Given the description of an element on the screen output the (x, y) to click on. 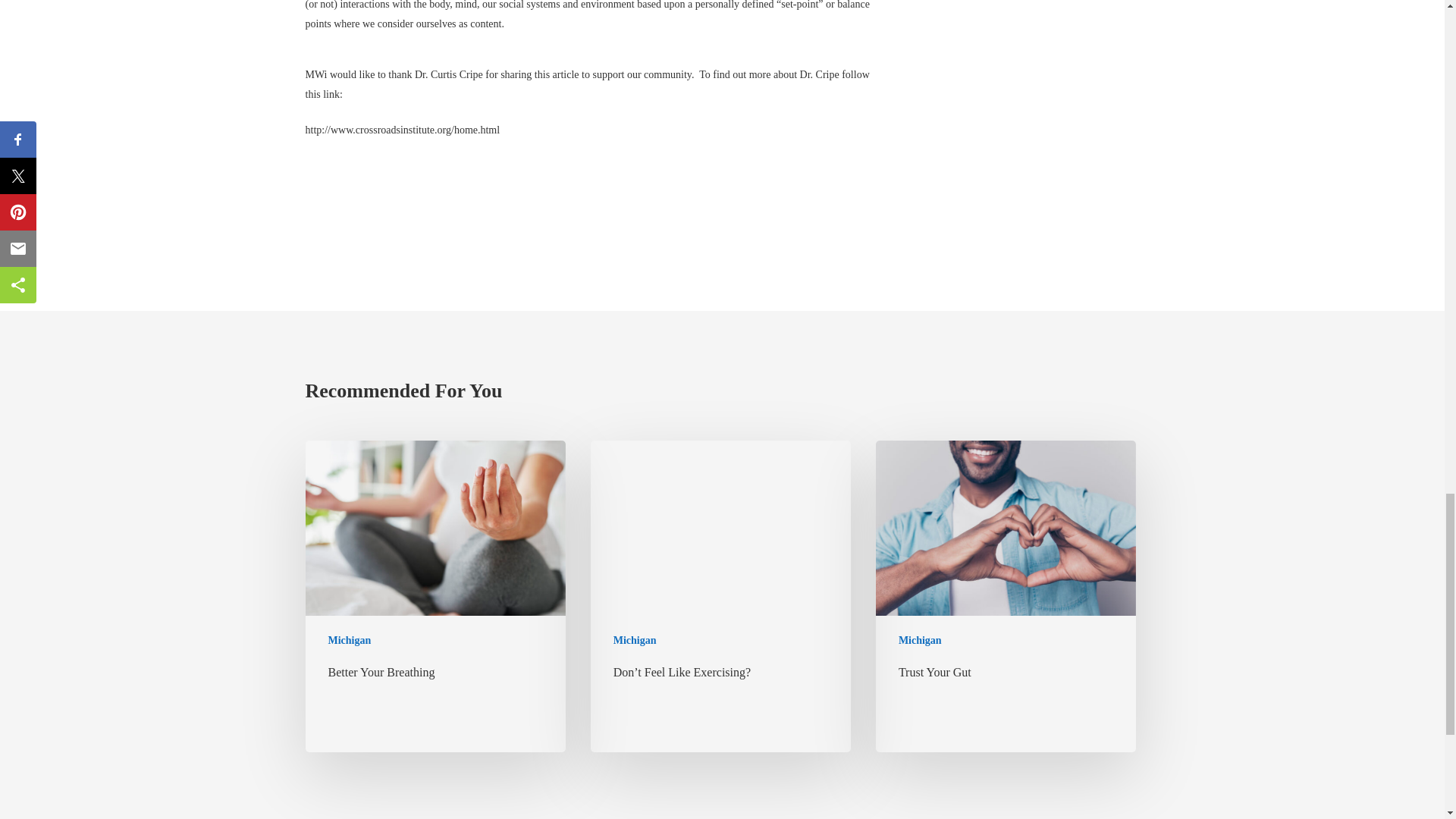
Michigan (920, 639)
Michigan (634, 639)
Michigan (349, 639)
